Given the description of an element on the screen output the (x, y) to click on. 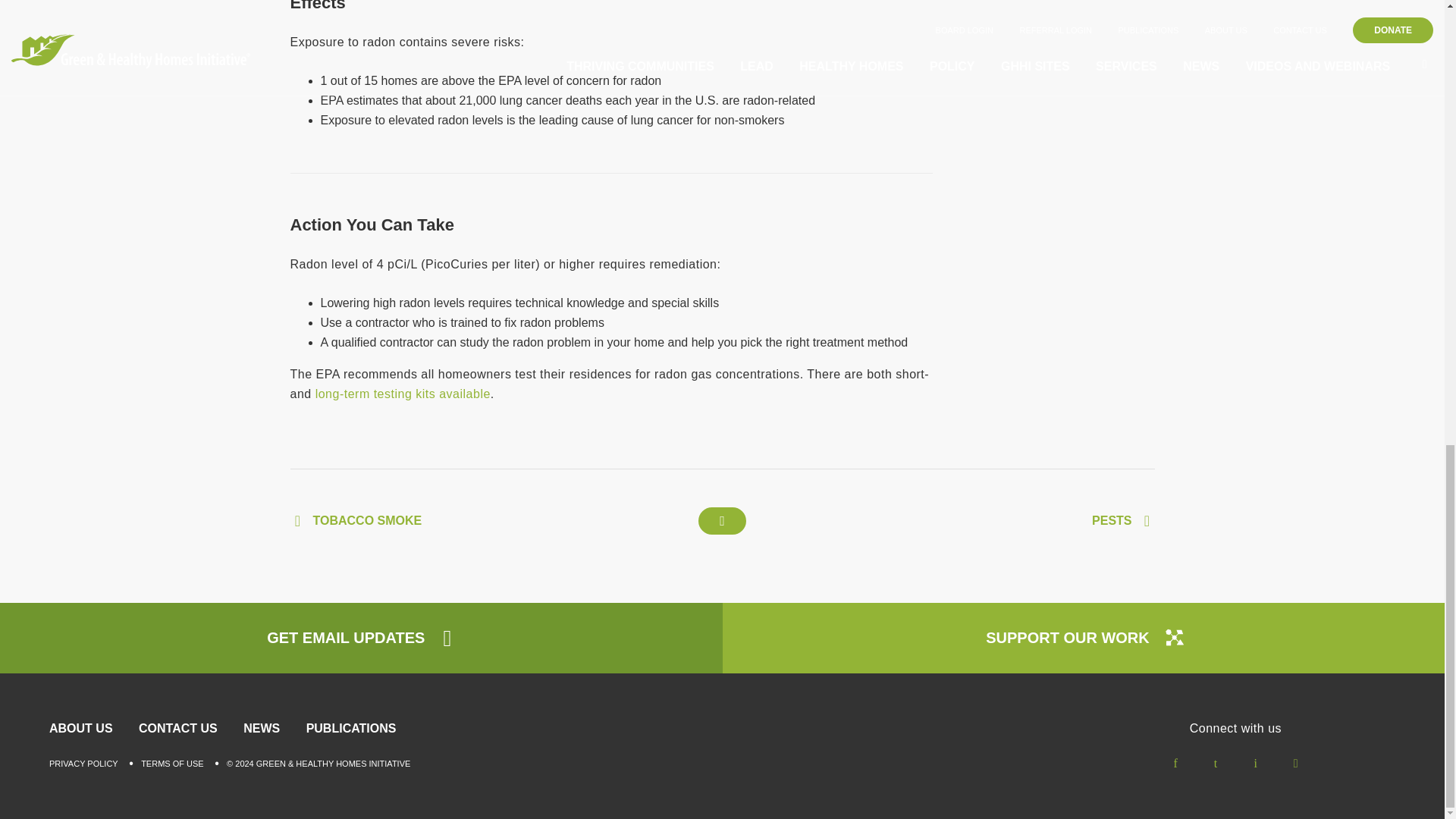
Twitter (1214, 763)
Facebook (1175, 763)
YouTube (1294, 763)
LinkedIn (1255, 763)
